Given the description of an element on the screen output the (x, y) to click on. 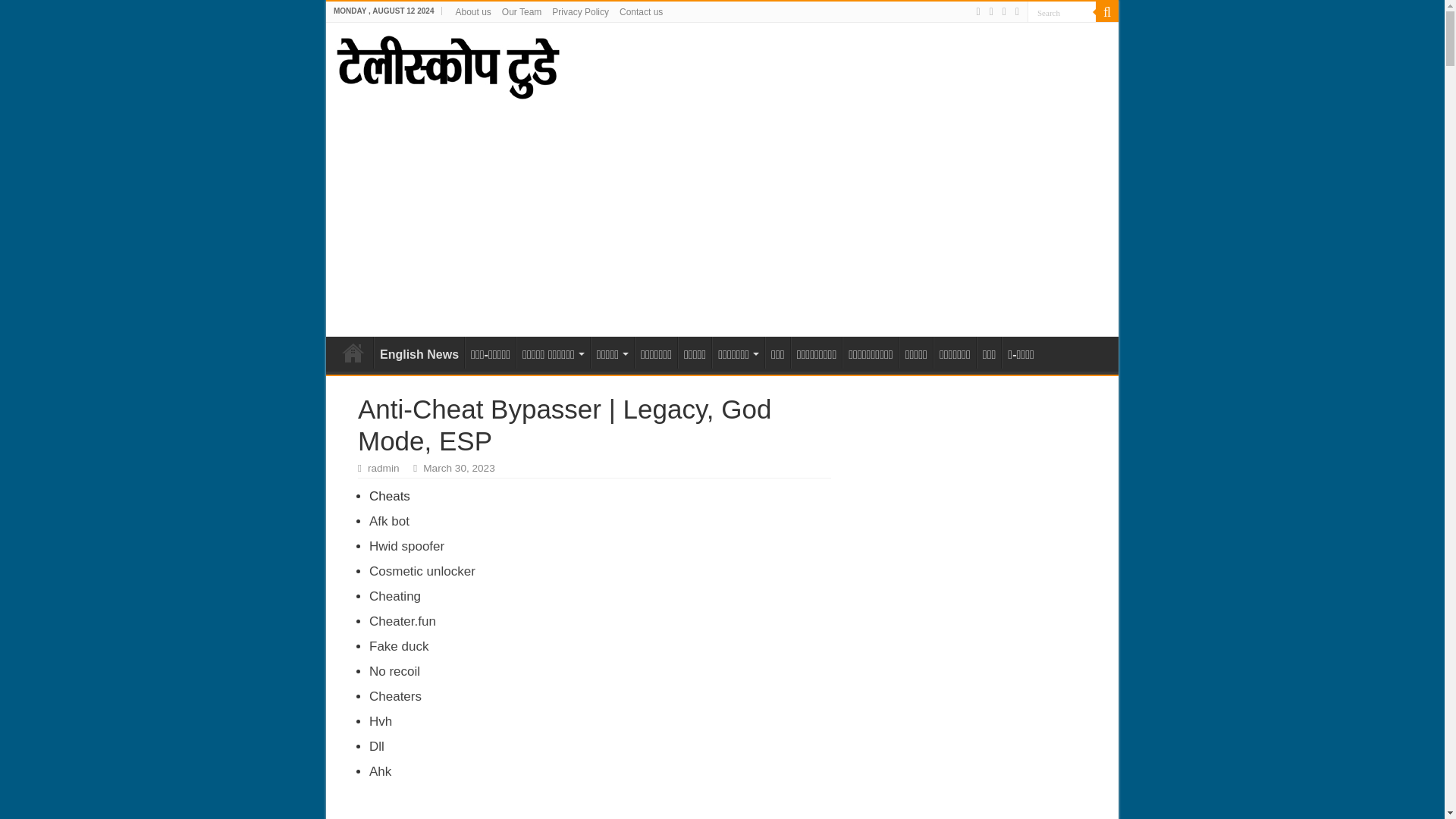
Search (1061, 12)
Privacy Policy (580, 12)
Search (1061, 12)
About us (472, 12)
Search (1061, 12)
Our Team (521, 12)
Search (1107, 11)
Contact us (641, 12)
English News (419, 352)
